Given the description of an element on the screen output the (x, y) to click on. 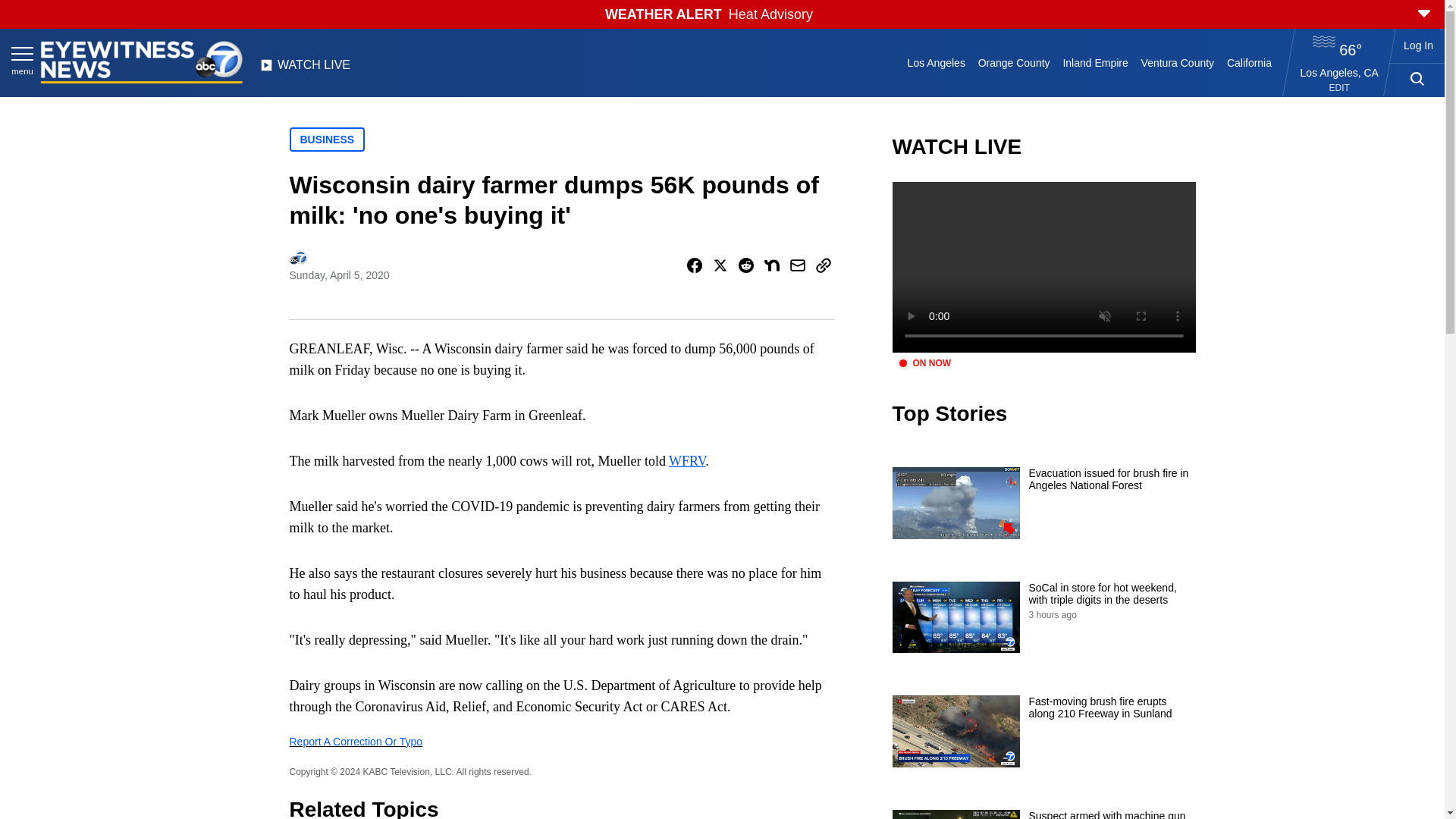
Ventura County (1177, 62)
California (1249, 62)
Los Angeles (936, 62)
Orange County (1014, 62)
EDIT (1339, 87)
WATCH LIVE (305, 69)
video.title (1043, 266)
Inland Empire (1095, 62)
Los Angeles, CA (1339, 72)
